Given the description of an element on the screen output the (x, y) to click on. 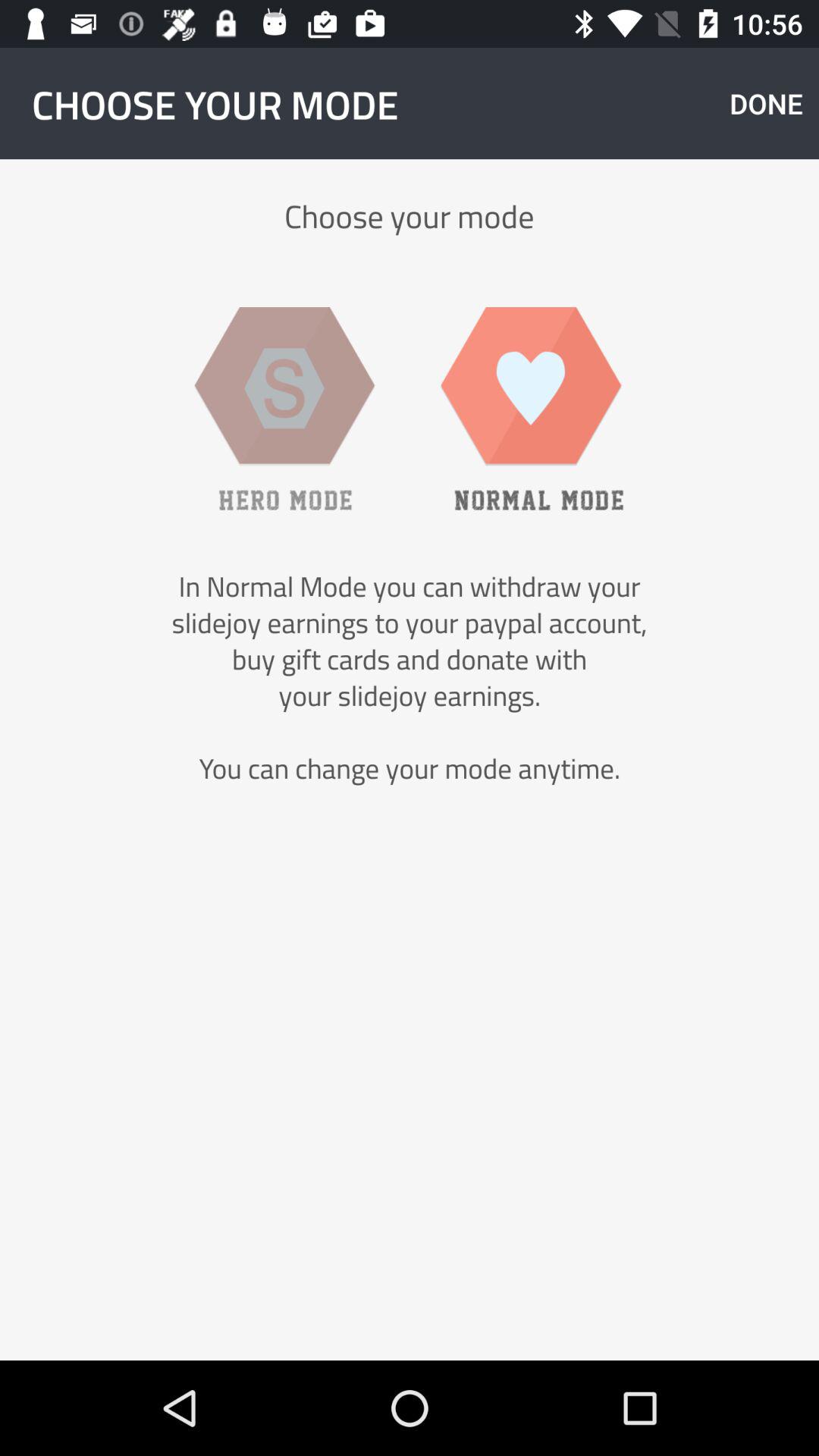
scroll until done (766, 103)
